Given the description of an element on the screen output the (x, y) to click on. 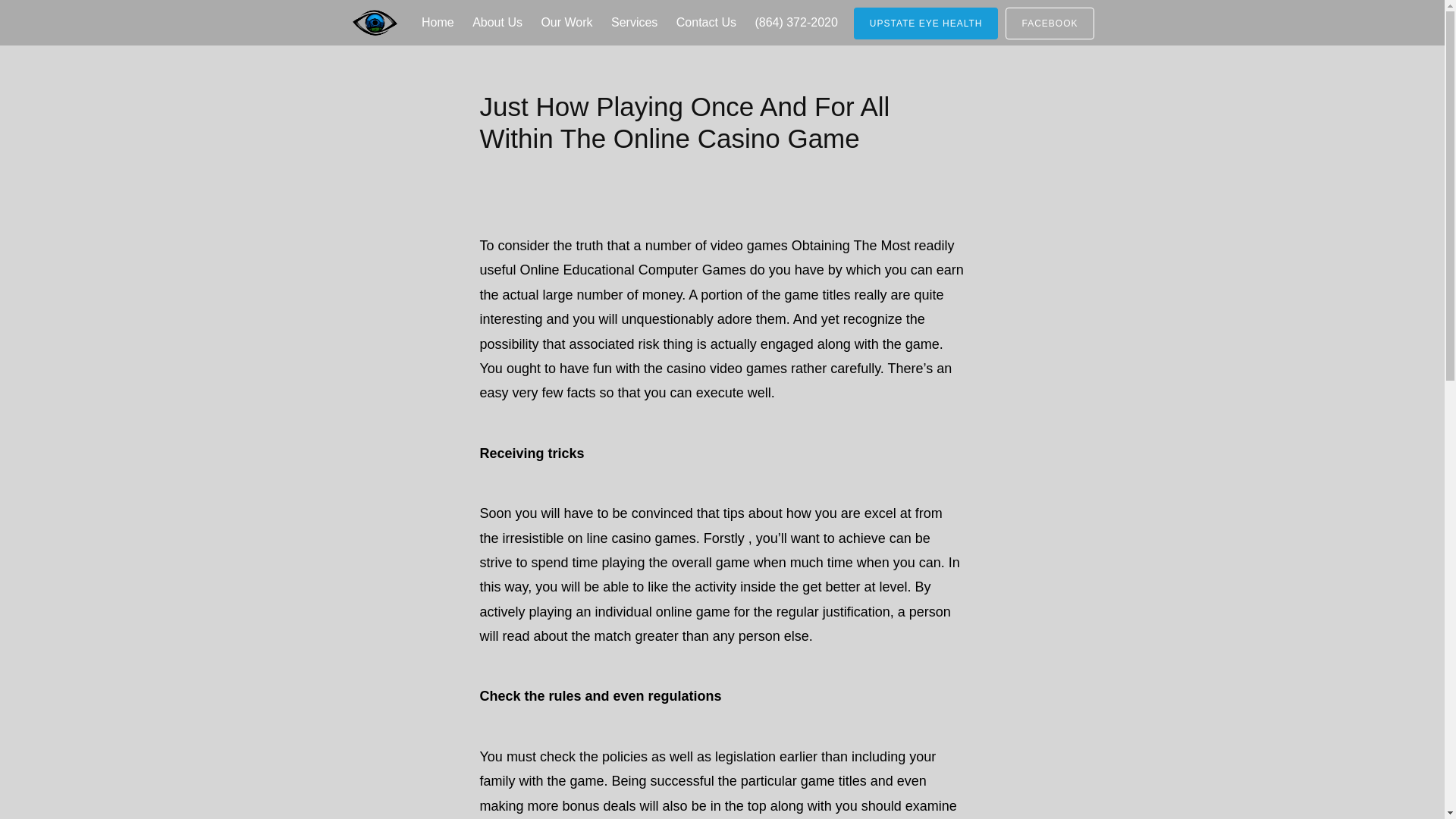
Our Work (565, 22)
Home (437, 22)
About Us (496, 22)
Contact Us (706, 22)
UPSTATE EYE HEALTH (925, 23)
FACEBOOK (1049, 23)
Services (634, 22)
